Given the description of an element on the screen output the (x, y) to click on. 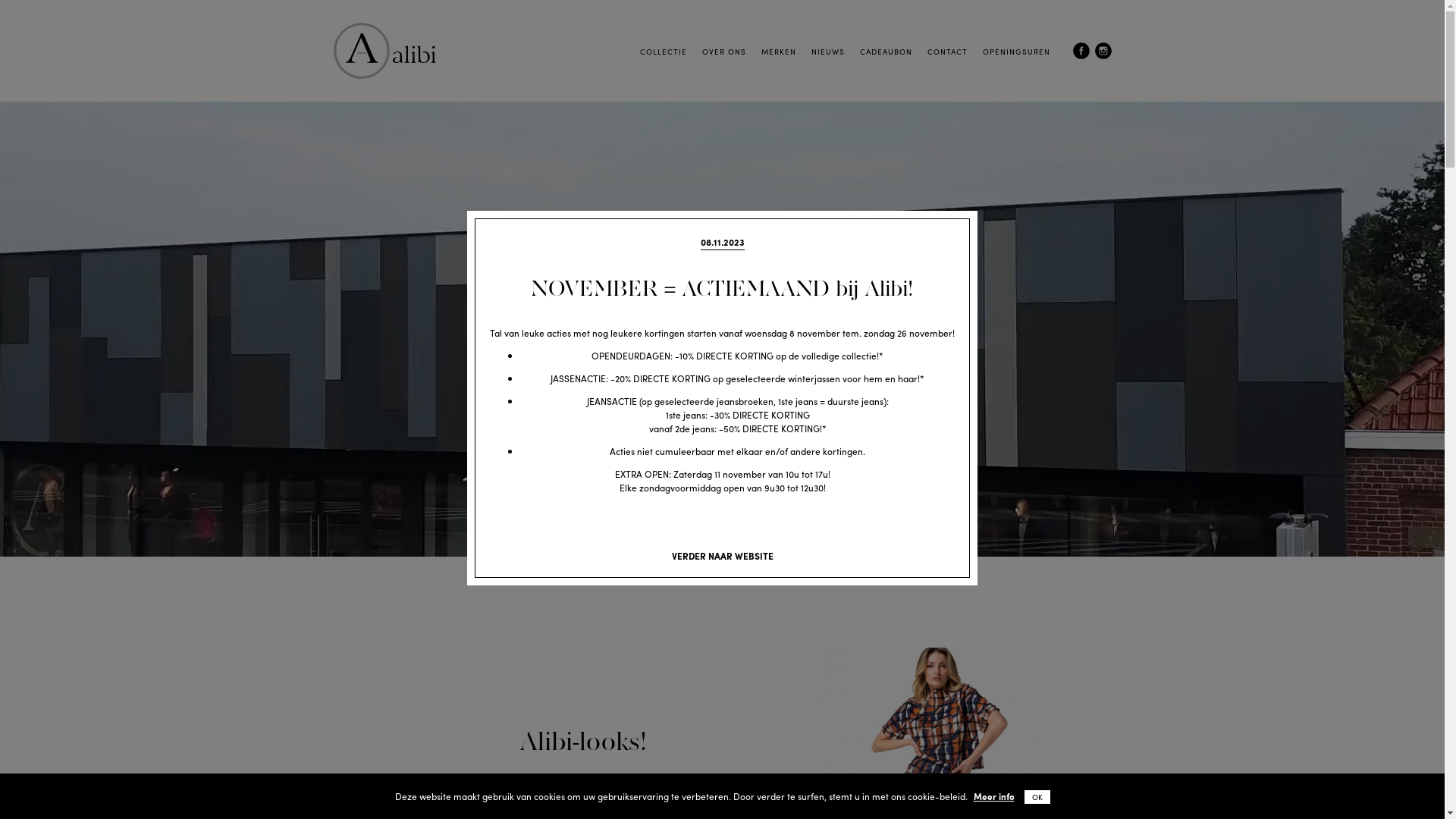
OVER ONS Element type: text (724, 52)
VERDER NAAR WEBSITE Element type: text (722, 555)
CONTACT Element type: text (946, 52)
COLLECTIE Element type: text (663, 52)
Meer info Element type: text (993, 795)
OPENINGSUREN Element type: text (1016, 52)
OK Element type: text (1036, 796)
MERKEN Element type: text (778, 52)
CADEAUBON Element type: text (885, 52)
NIEUWS Element type: text (827, 52)
